Given the description of an element on the screen output the (x, y) to click on. 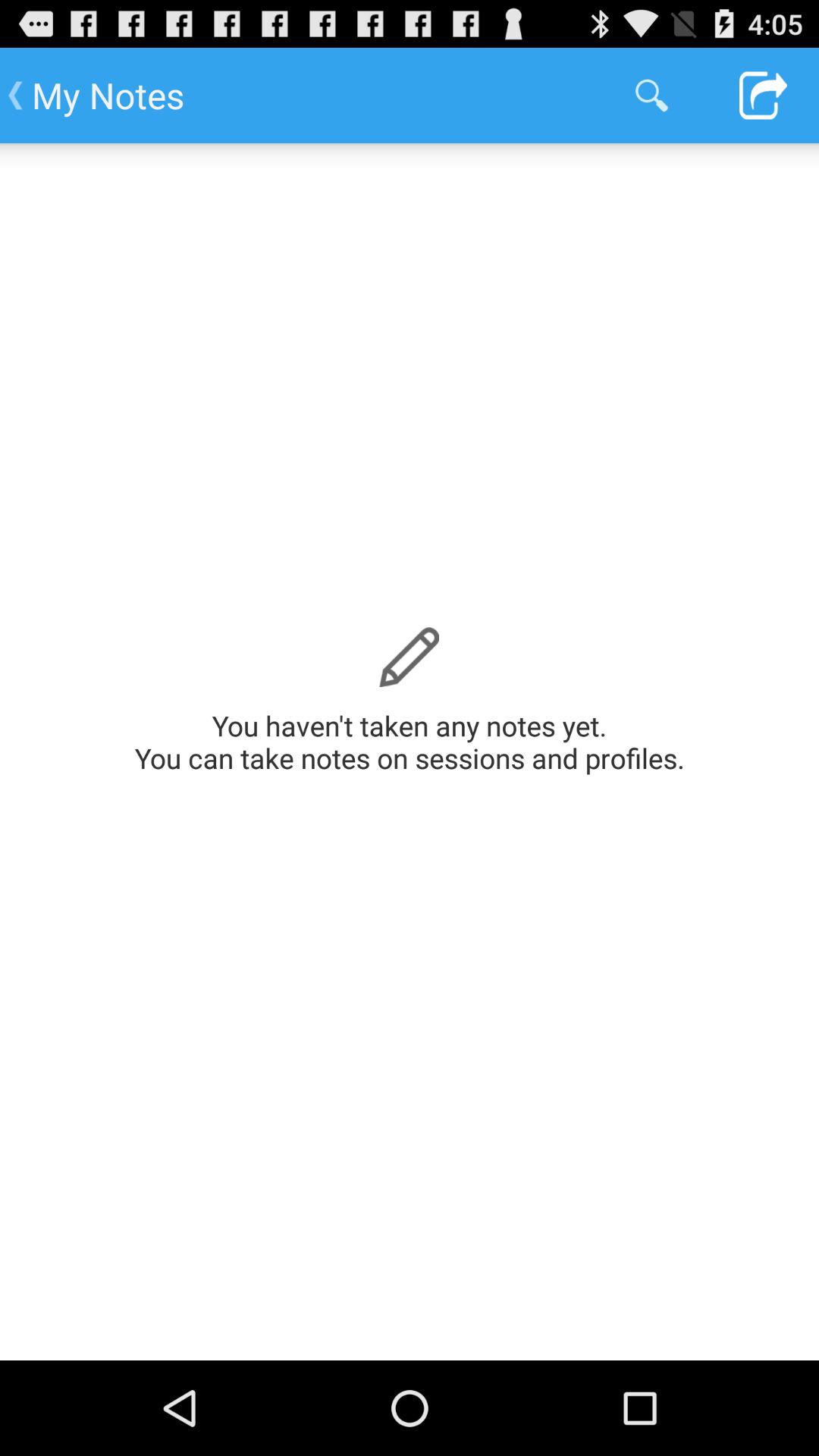
select the item next to the my notes icon (651, 95)
